Given the description of an element on the screen output the (x, y) to click on. 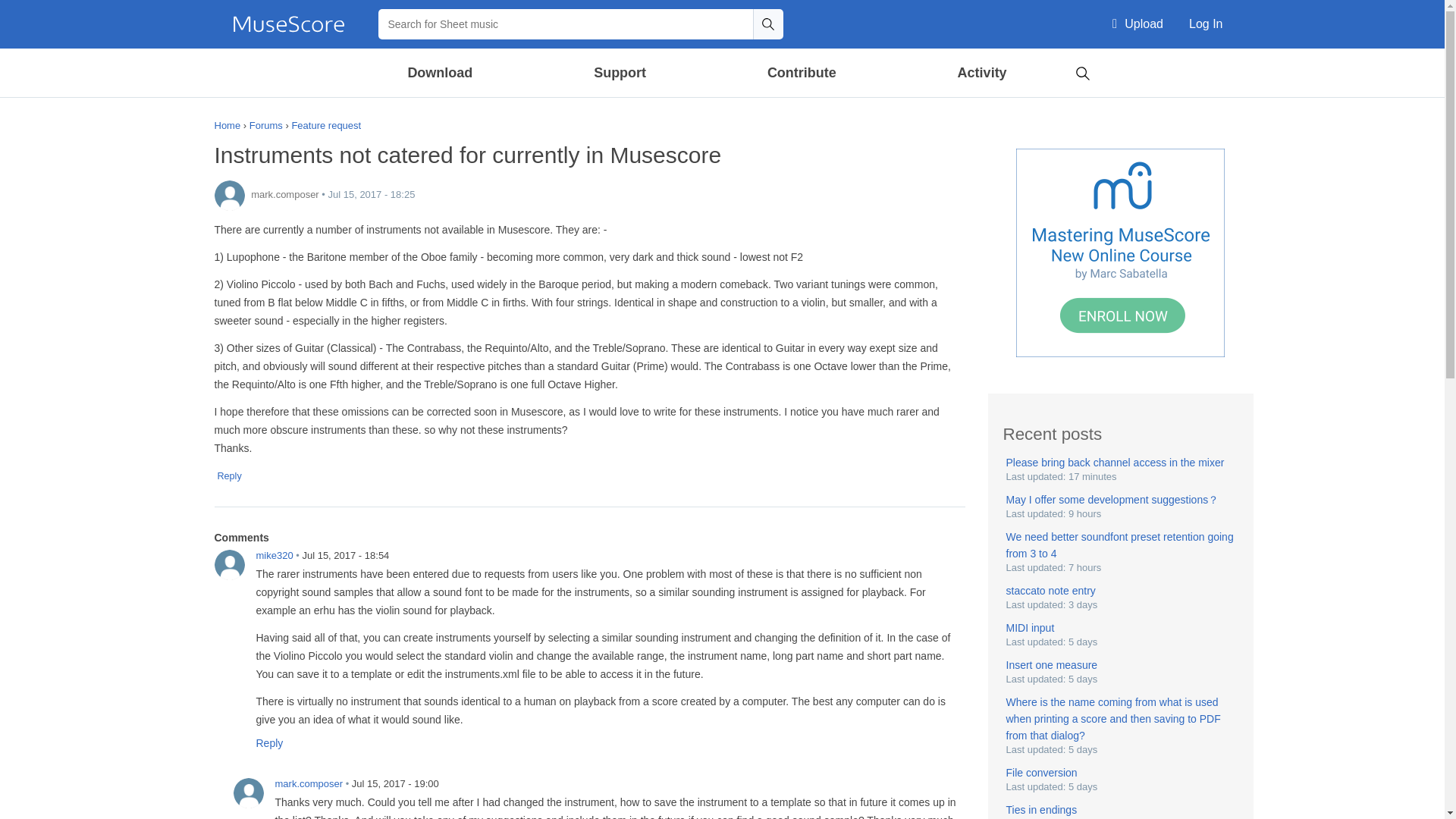
mark.composer (229, 195)
Activity (981, 72)
Search (1082, 71)
mike320 (229, 564)
Download (440, 72)
Home (287, 23)
mark.composer (247, 793)
Log In (1205, 24)
Upload (1137, 24)
Search (767, 24)
Support (619, 72)
Contribute (801, 72)
Search (767, 24)
MuseScore (287, 23)
